Given the description of an element on the screen output the (x, y) to click on. 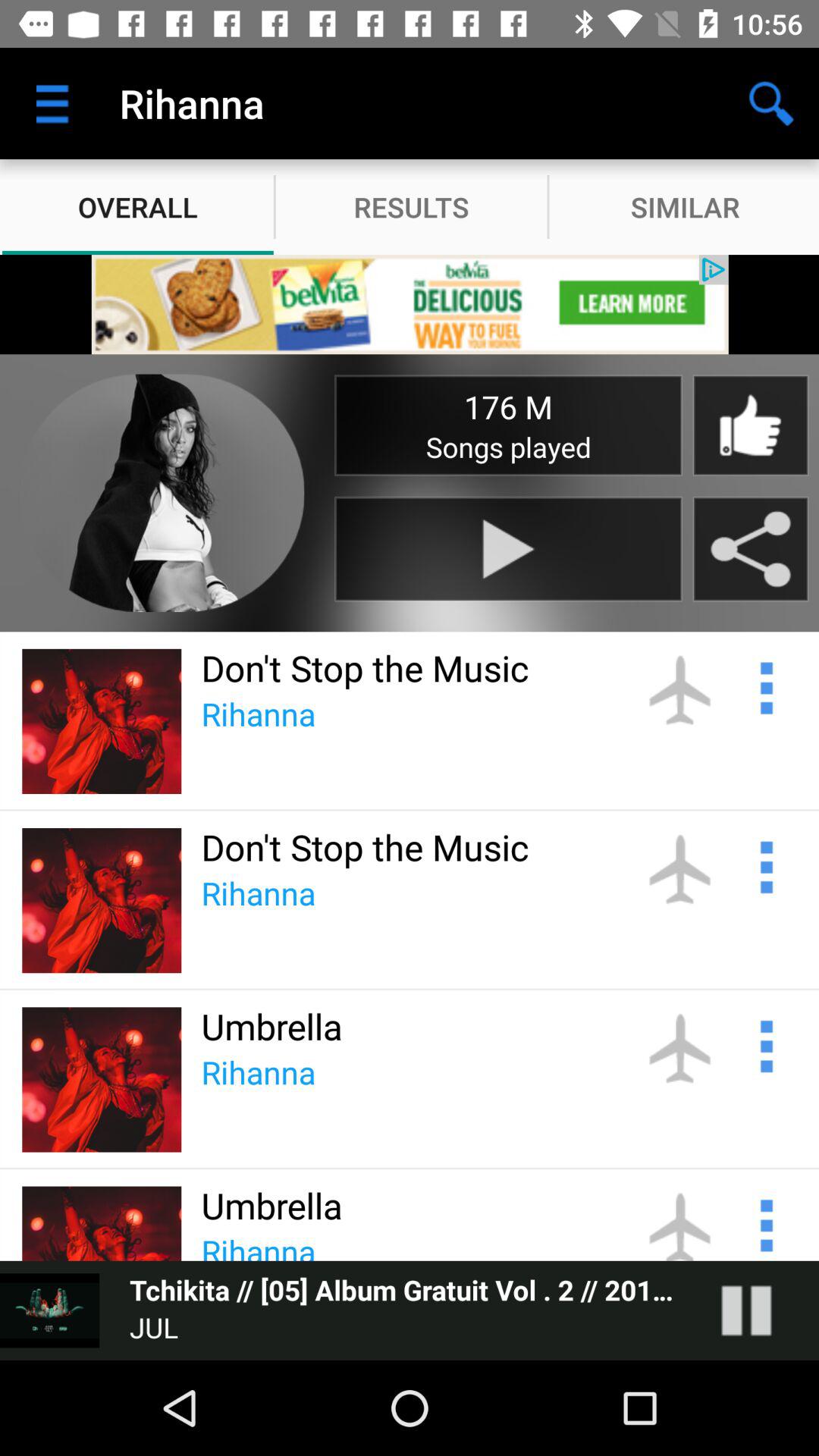
click the pause button (761, 1310)
select the 2nd icon in blue color from the bottom (764, 1044)
click play button (508, 549)
click share button (750, 549)
